Given the description of an element on the screen output the (x, y) to click on. 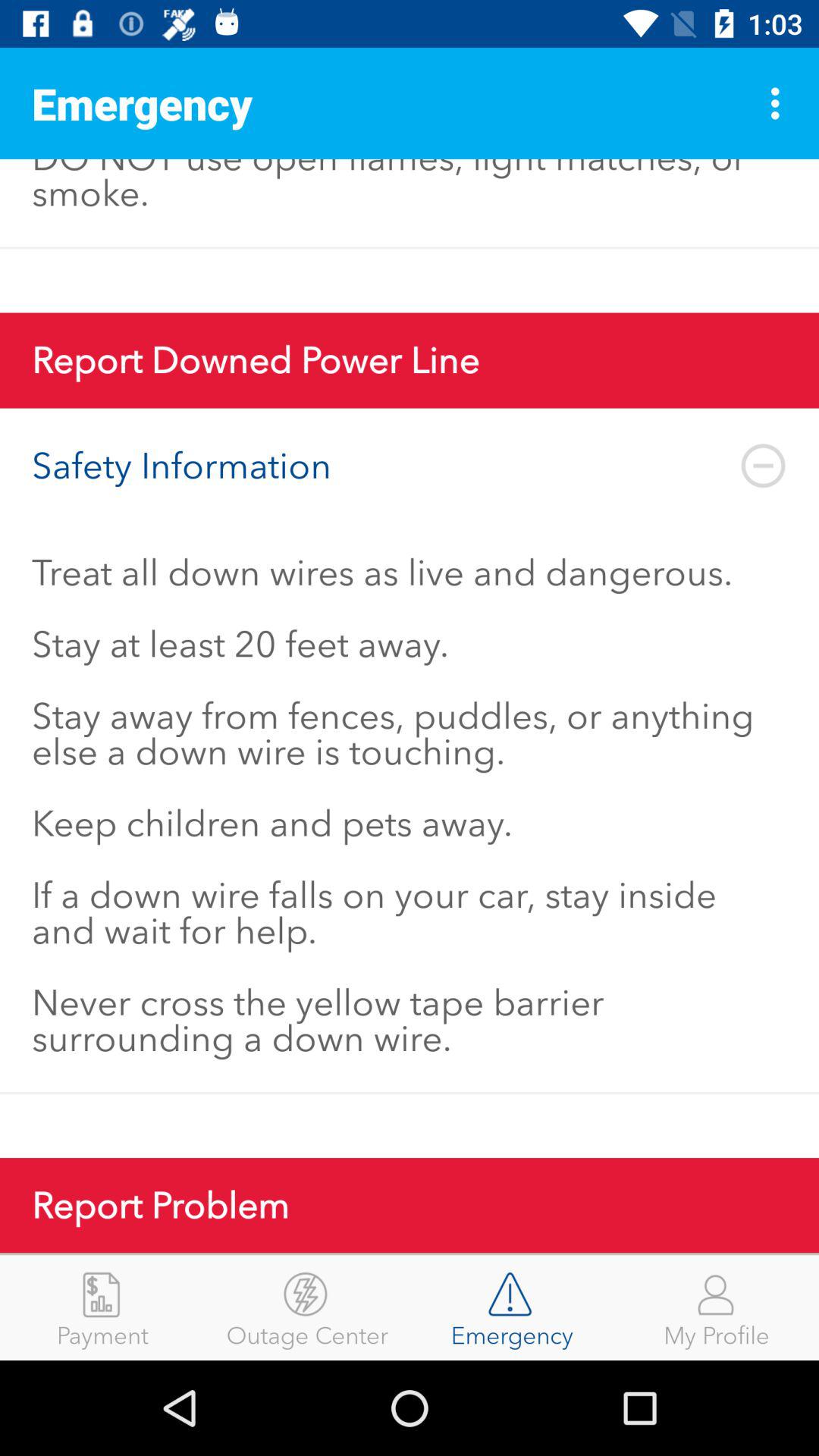
click icon next to emergency icon (306, 1307)
